Given the description of an element on the screen output the (x, y) to click on. 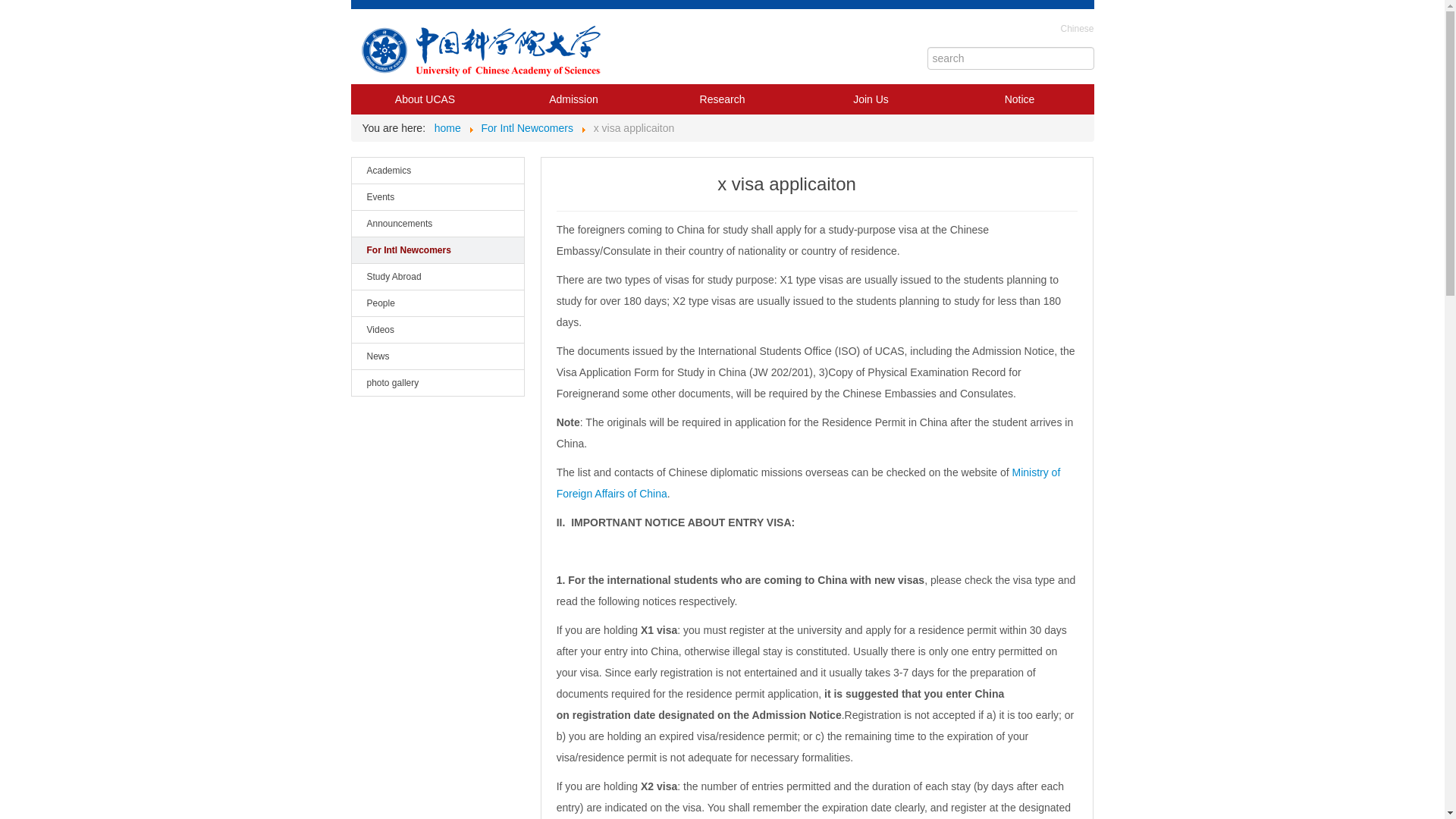
Research (721, 99)
Chinese (1076, 28)
Study Abroad (437, 275)
For Intl Newcomers (437, 249)
Academics (437, 170)
For Intl Newcomers (527, 128)
Join Us (870, 99)
return University of Chinese  Academy of Sciences (482, 50)
Announcements (437, 222)
home (447, 128)
